Given the description of an element on the screen output the (x, y) to click on. 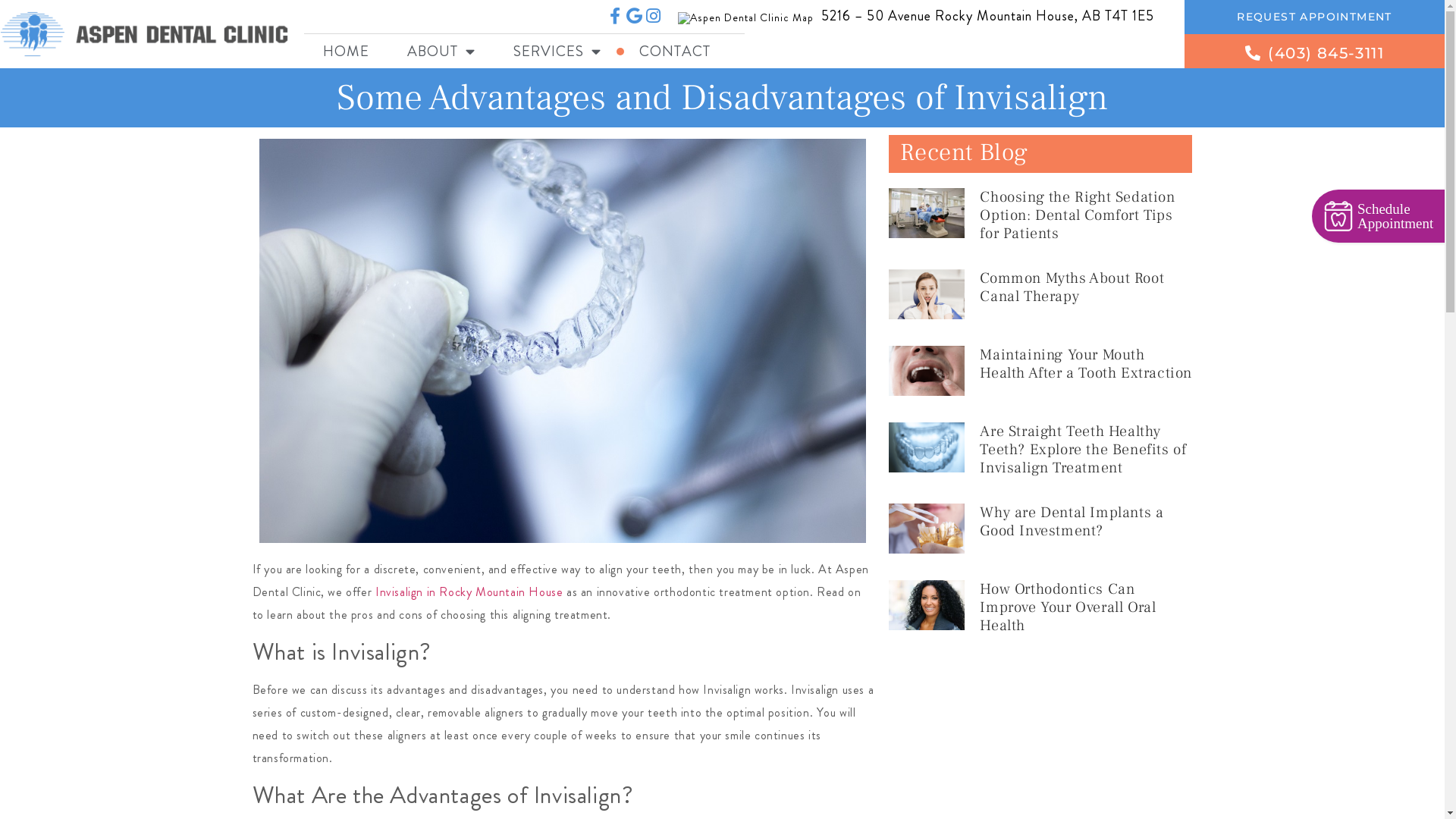
REQUEST APPOINTMENT Element type: text (1314, 17)
Schedule
Appointment Element type: text (1377, 215)
HOME Element type: text (346, 51)
CONTACT Element type: text (674, 51)
ABOUT Element type: text (441, 51)
Invisalign in Rocky Mountain House Element type: text (468, 591)
Maintaining Your Mouth Health After a Tooth Extraction Element type: text (1085, 363)
Why are Dental Implants a Good Investment? Element type: text (1071, 521)
Common Myths About Root Canal Therapy Element type: text (1071, 287)
SERVICES Element type: text (557, 51)
(403) 845-3111 Element type: text (1314, 51)
How Orthodontics Can Improve Your Overall Oral Health Element type: text (1067, 607)
